Given the description of an element on the screen output the (x, y) to click on. 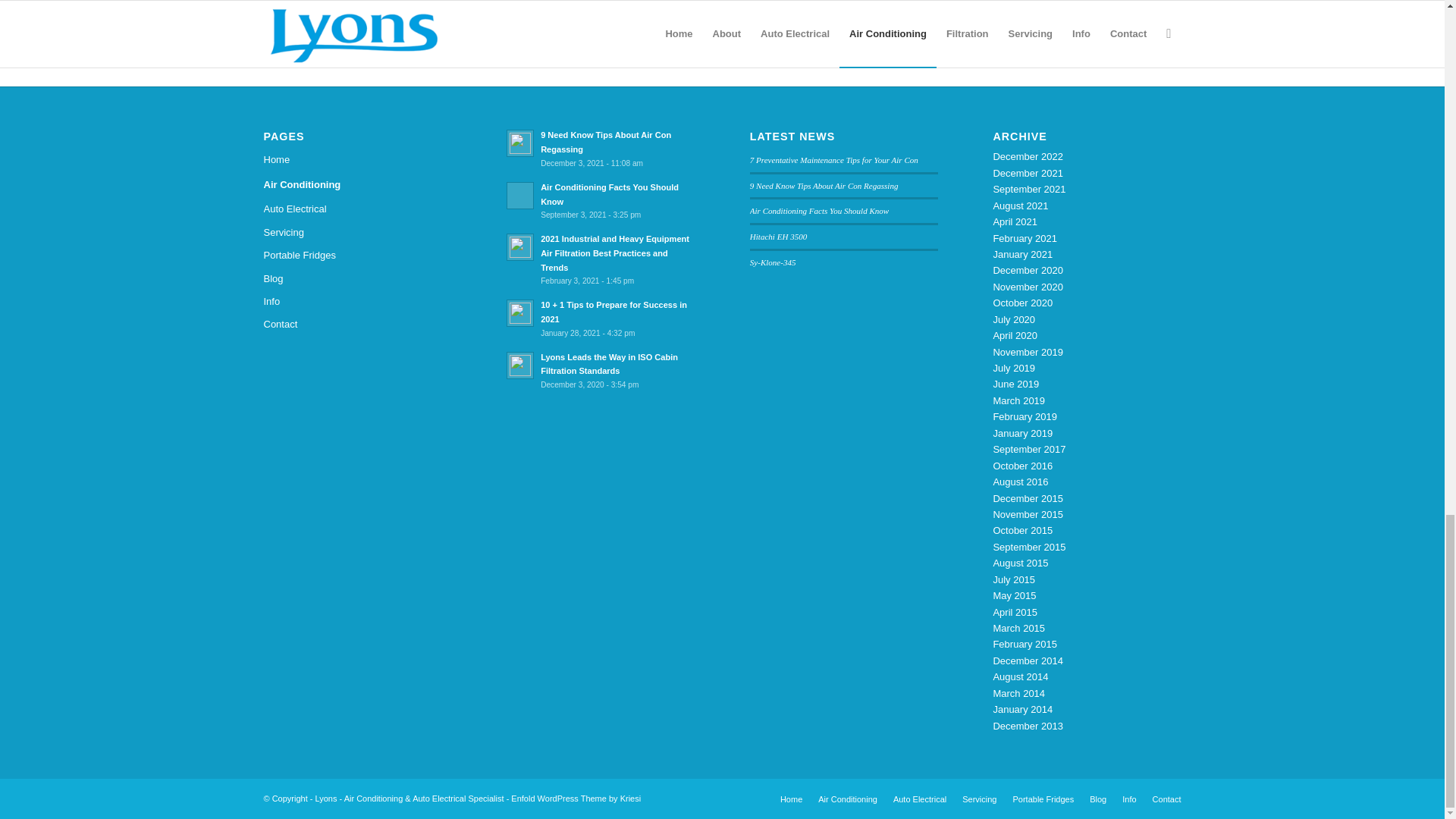
Read: 9 Need Know Tips About Air Con Regassing (605, 141)
Read: Lyons Leads the Way in ISO Cabin Filtration Standards (609, 363)
Read: Lyons Leads the Way in ISO Cabin Filtration Standards (520, 365)
Read: Air Conditioning Facts You Should Know (609, 194)
Read: Air Conditioning Facts You Should Know (520, 195)
Read: 9 Need Know Tips About Air Con Regassing (520, 143)
